Given the description of an element on the screen output the (x, y) to click on. 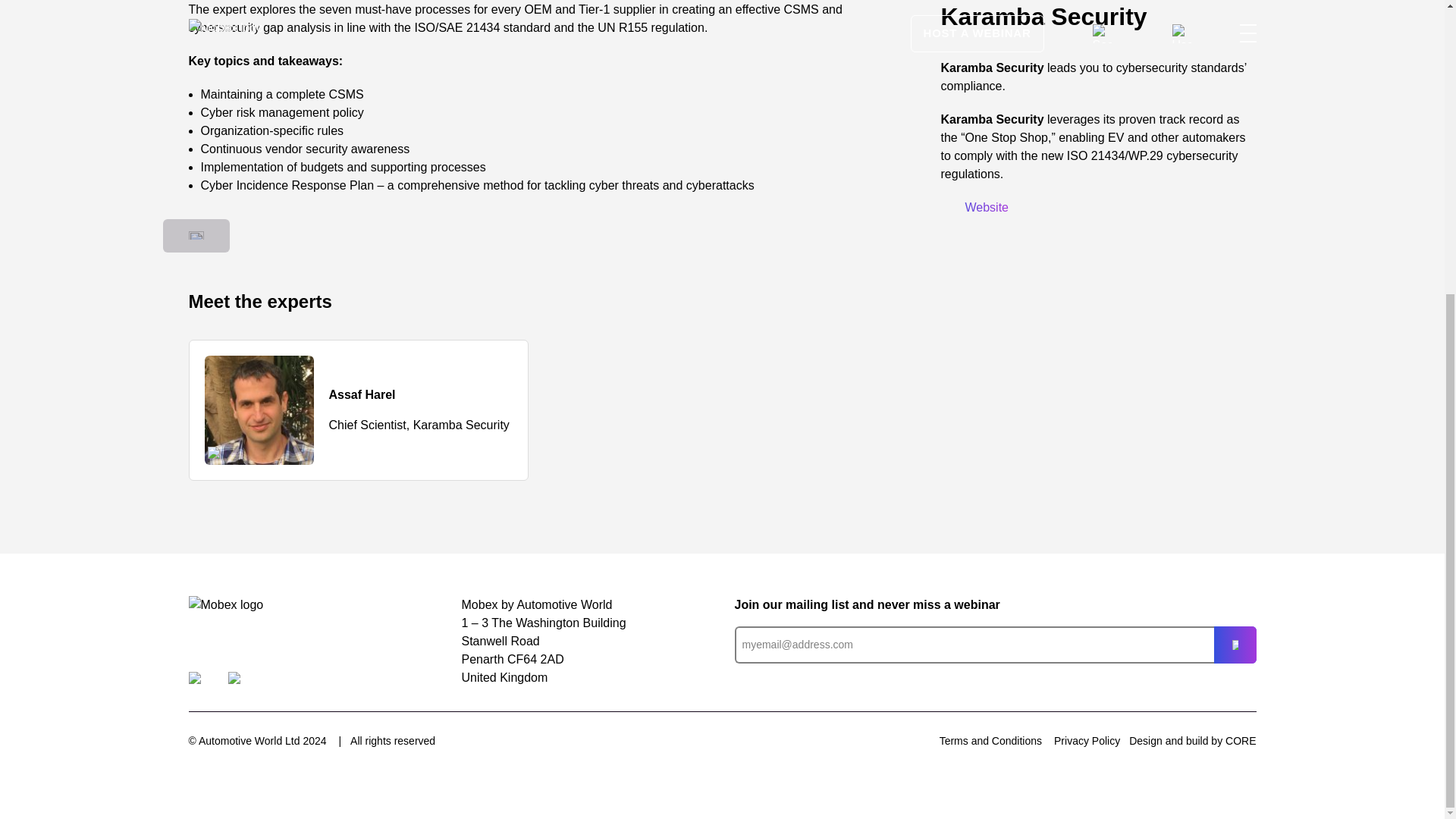
Design and build by CORE (1192, 741)
SIGN ME UP (1233, 644)
Website (974, 206)
Terms and Conditions (990, 740)
Privacy Policy (1086, 740)
